Given the description of an element on the screen output the (x, y) to click on. 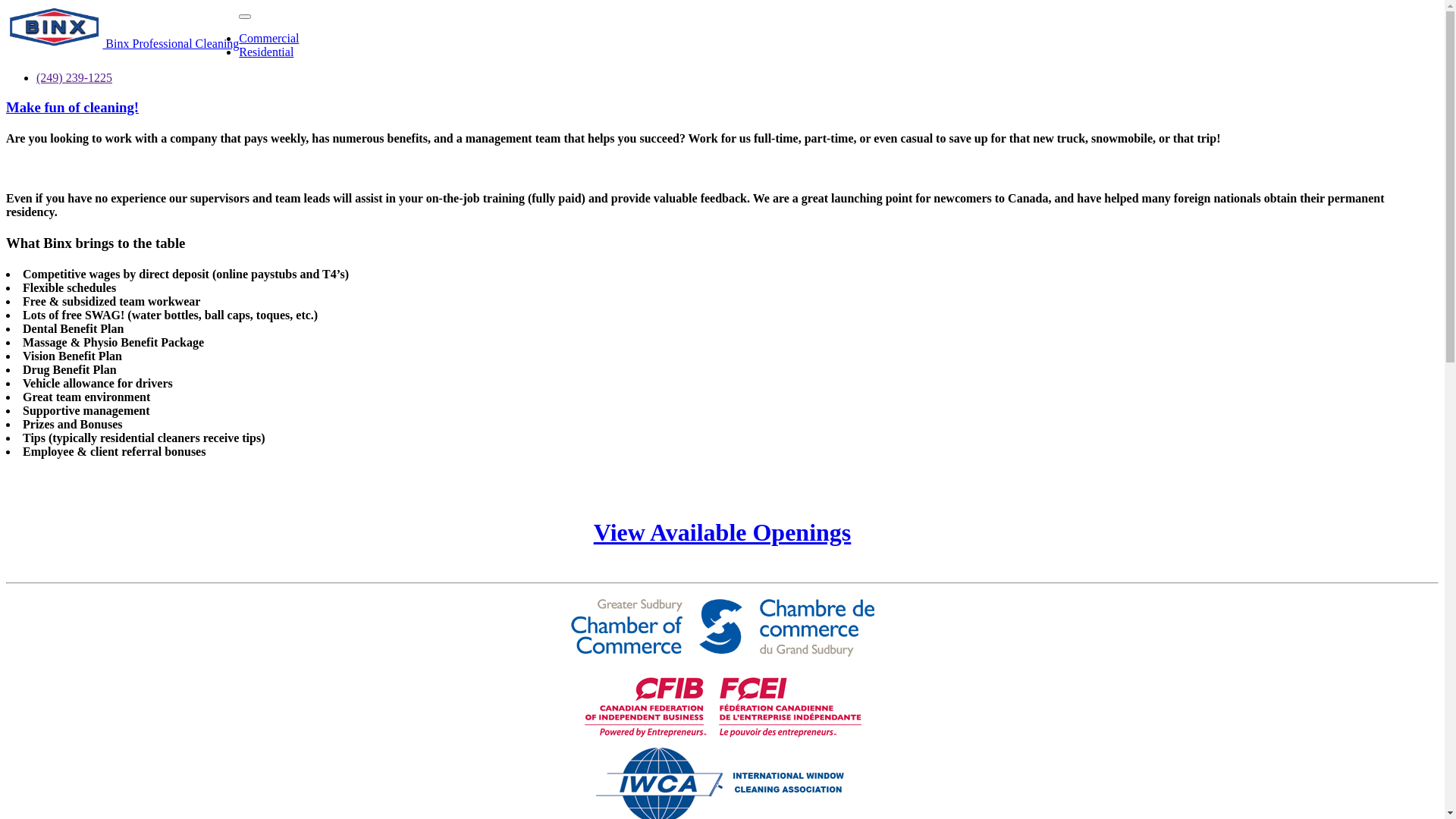
View Available Openings Element type: text (722, 532)
(249) 239-1225 Element type: text (74, 77)
Make fun of cleaning! Element type: text (72, 107)
Commercial Element type: text (268, 37)
Residential Element type: text (265, 51)
Binx Professional Cleaning Element type: text (122, 28)
